Given the description of an element on the screen output the (x, y) to click on. 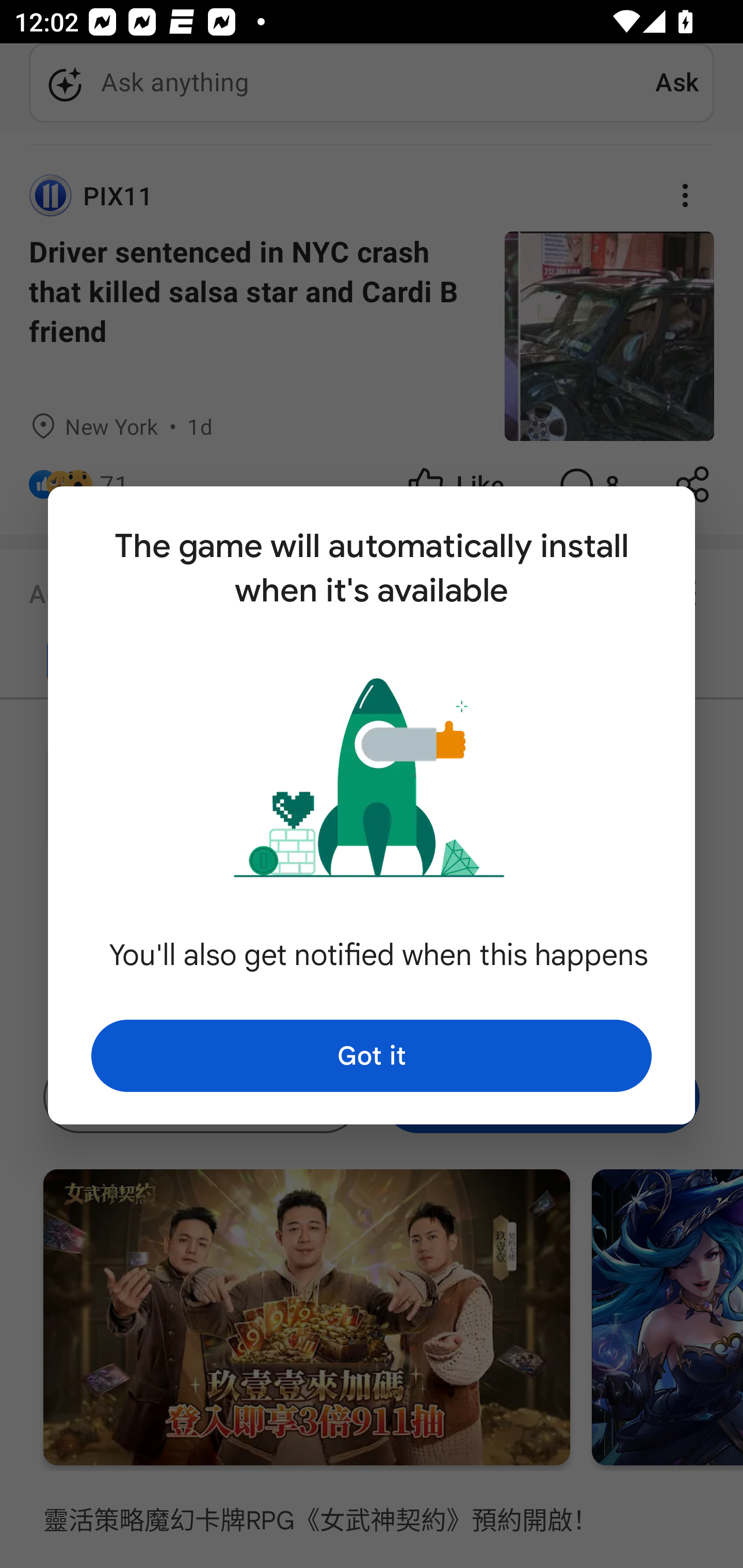
Got it (371, 1055)
